Given the description of an element on the screen output the (x, y) to click on. 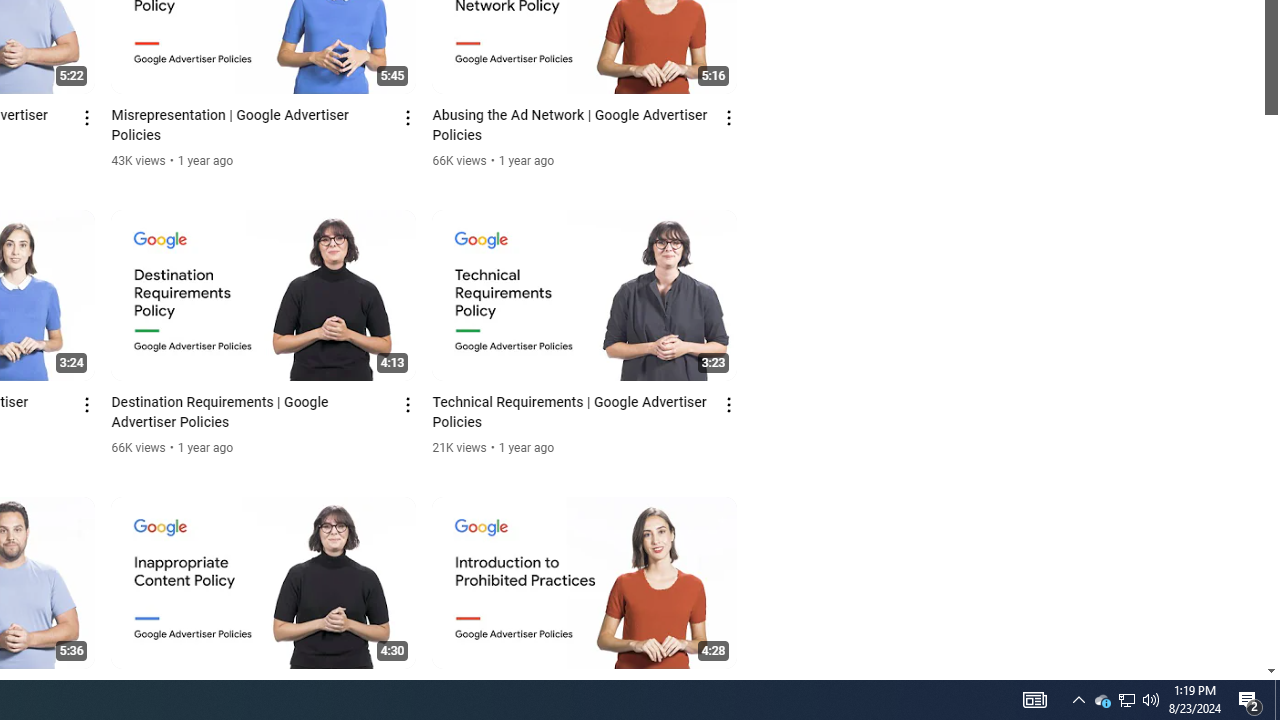
Action menu (729, 691)
